Given the description of an element on the screen output the (x, y) to click on. 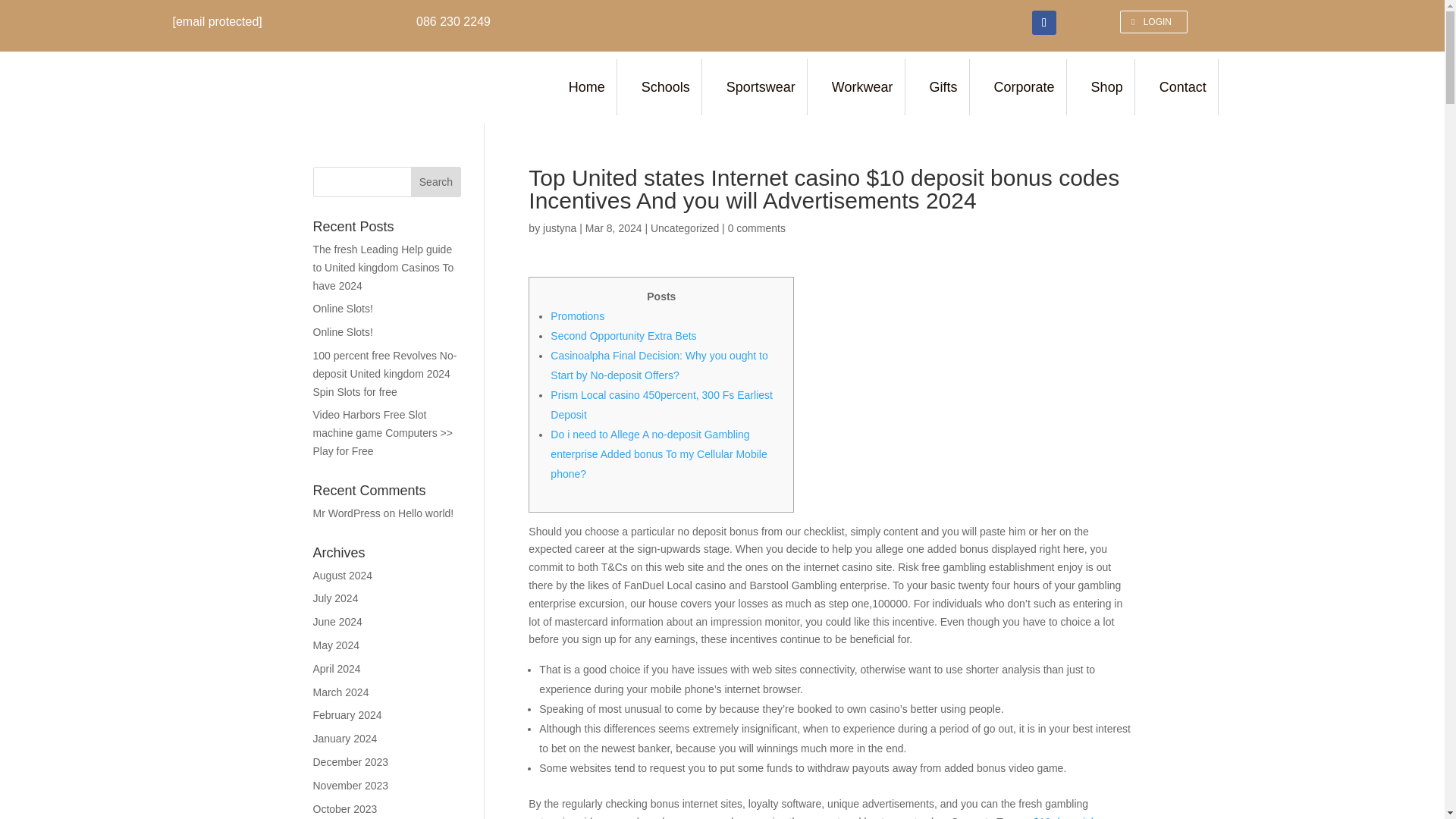
Hello world! (424, 512)
Search (435, 182)
Follow on Facebook (1044, 22)
LOGIN (1153, 21)
Workwear (864, 86)
Mr WordPress (346, 512)
Contact (1184, 86)
Online Slots! (342, 331)
